Given the description of an element on the screen output the (x, y) to click on. 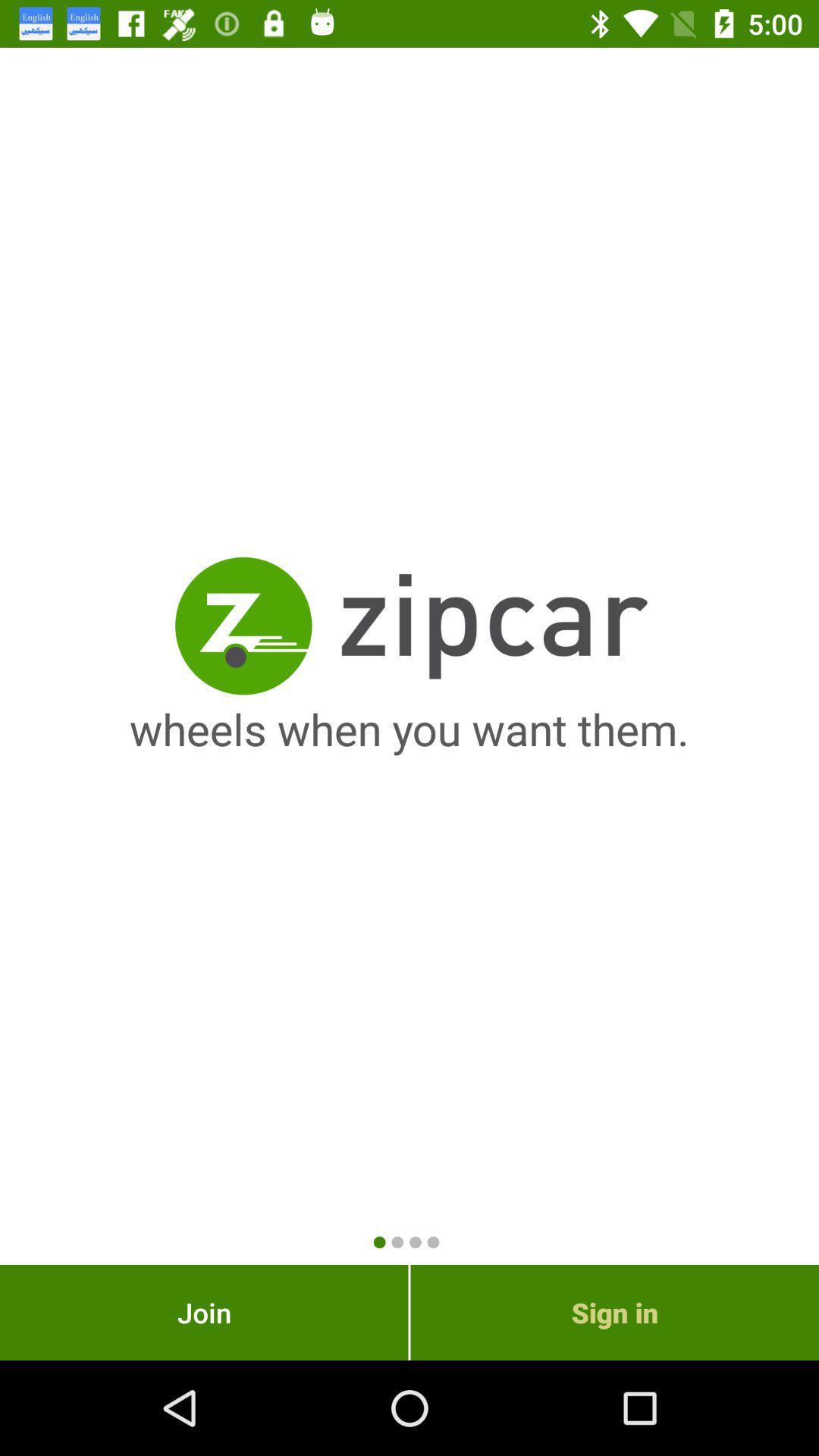
select the icon at the bottom right corner (614, 1312)
